Given the description of an element on the screen output the (x, y) to click on. 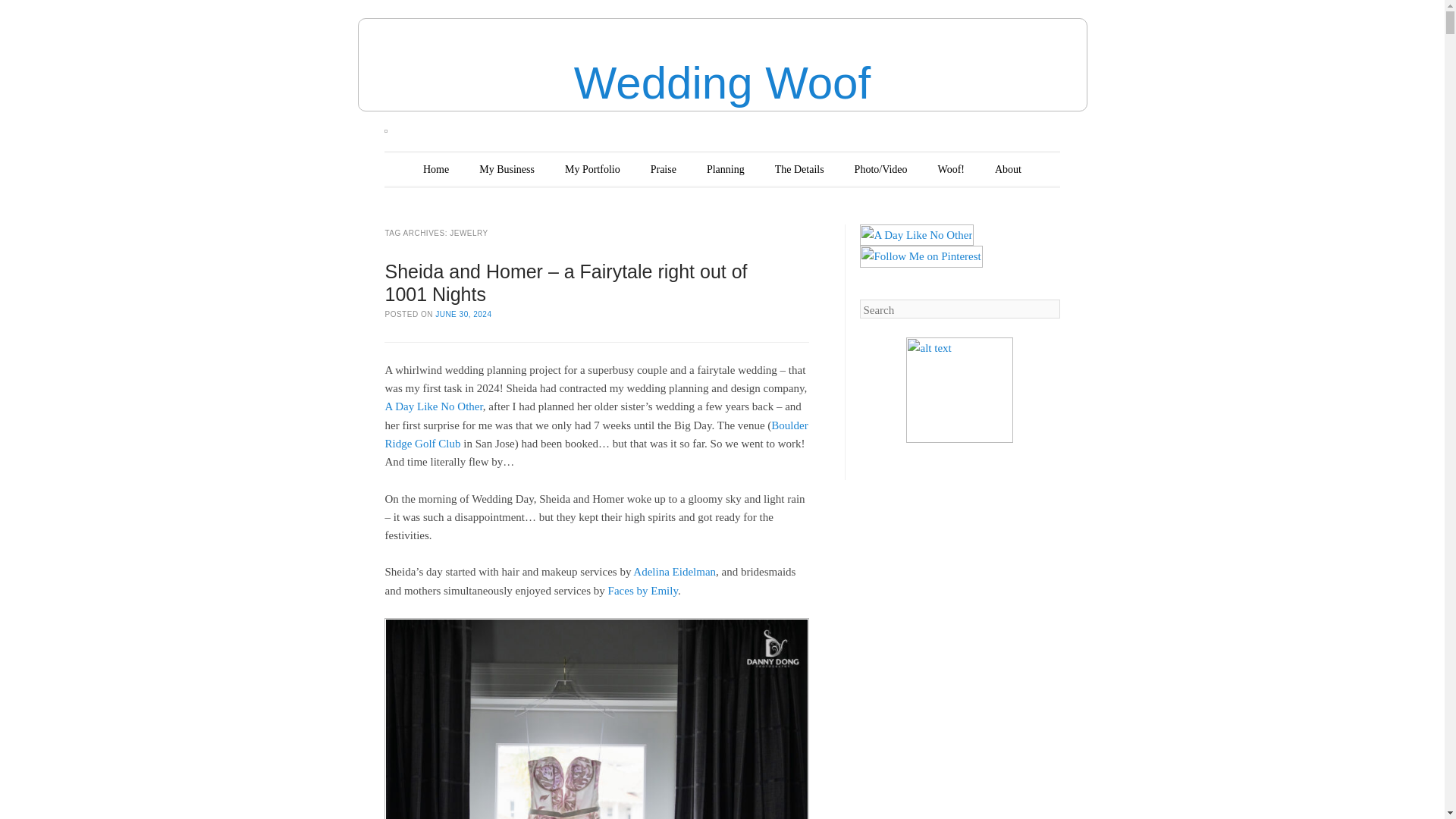
Woof! (951, 169)
The Details (799, 169)
Skip to content (433, 169)
Boulder Ridge Golf Club (596, 434)
Home (435, 169)
A Day Like No Other (432, 406)
Praise (663, 169)
JUNE 30, 2024 (463, 314)
Faces by Emily (643, 590)
About (1008, 169)
